Given the description of an element on the screen output the (x, y) to click on. 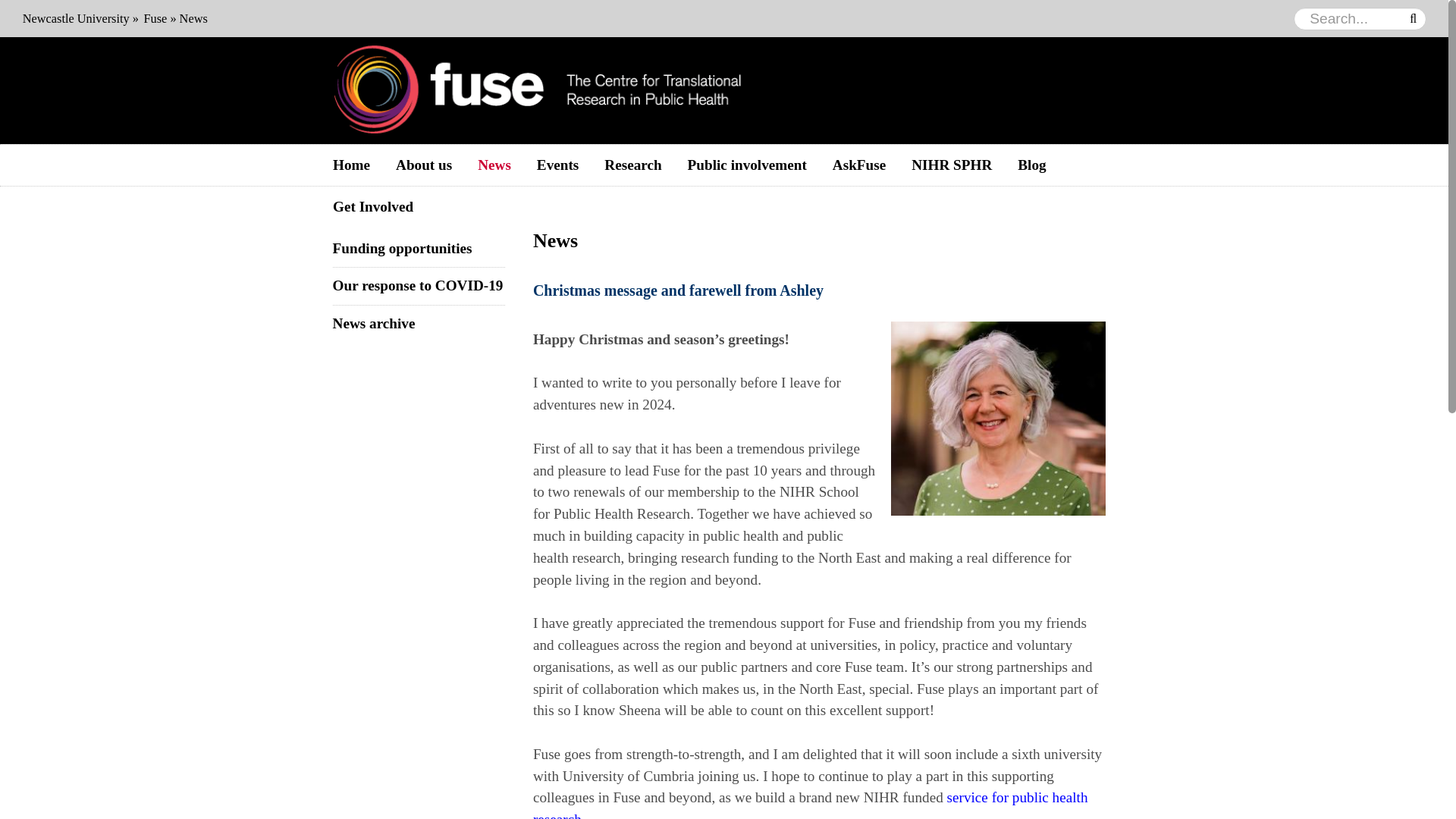
About us (423, 165)
News (494, 165)
Events (557, 165)
Public involvement (747, 165)
NIHR SPHR (951, 165)
Research (632, 165)
Skip to content (776, 165)
Funding opportunities (402, 248)
News archive (373, 323)
Fuse (154, 18)
